Given the description of an element on the screen output the (x, y) to click on. 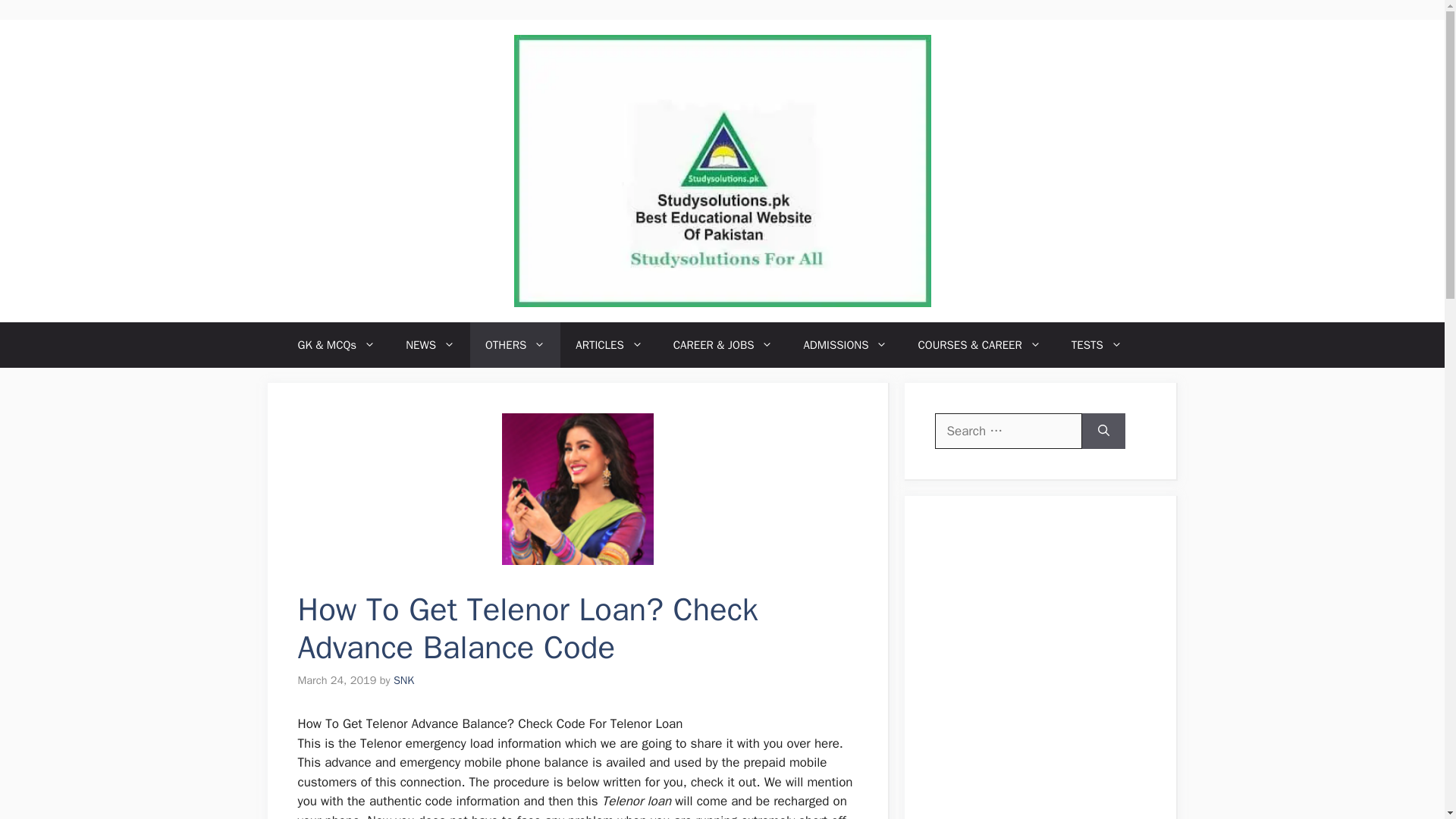
ADMISSIONS (844, 344)
ARTICLES (609, 344)
NEWS (430, 344)
OTHERS (515, 344)
Search for: (1007, 431)
View all posts by SNK (403, 680)
